Given the description of an element on the screen output the (x, y) to click on. 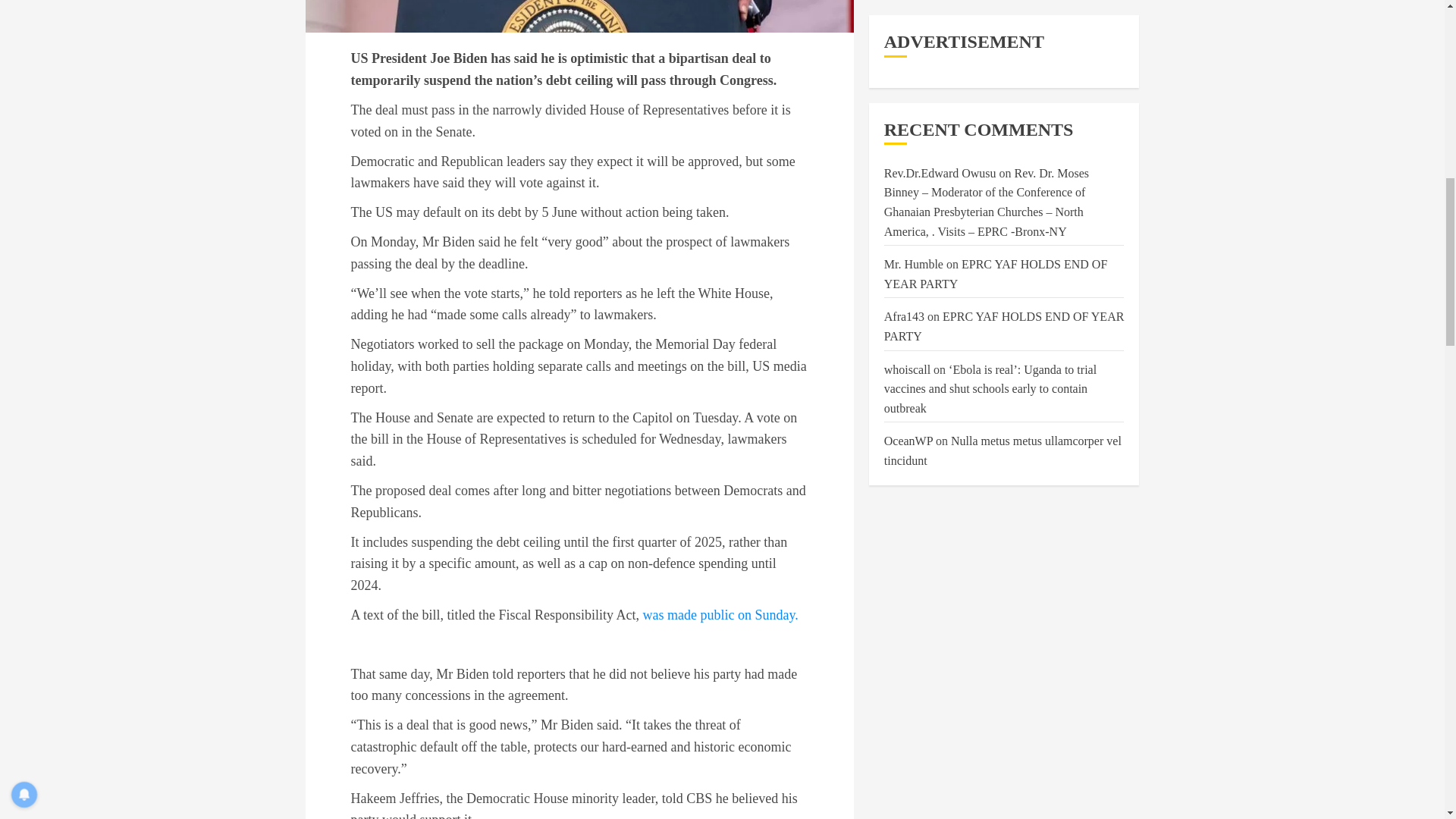
was made public on Sunday. (719, 614)
